Given the description of an element on the screen output the (x, y) to click on. 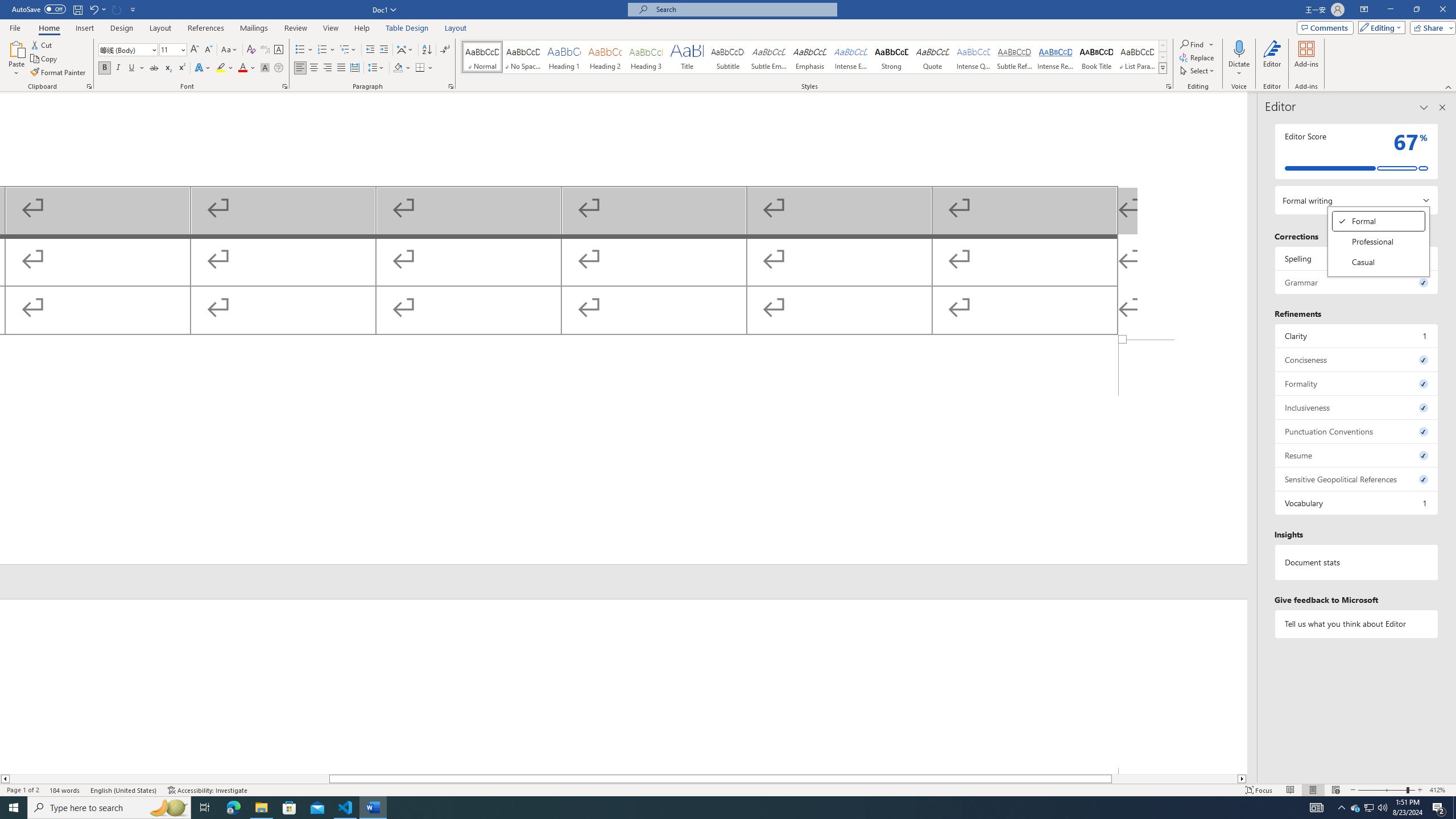
Undo Outline Move Up (92, 9)
Document statistics (1356, 561)
